Given the description of an element on the screen output the (x, y) to click on. 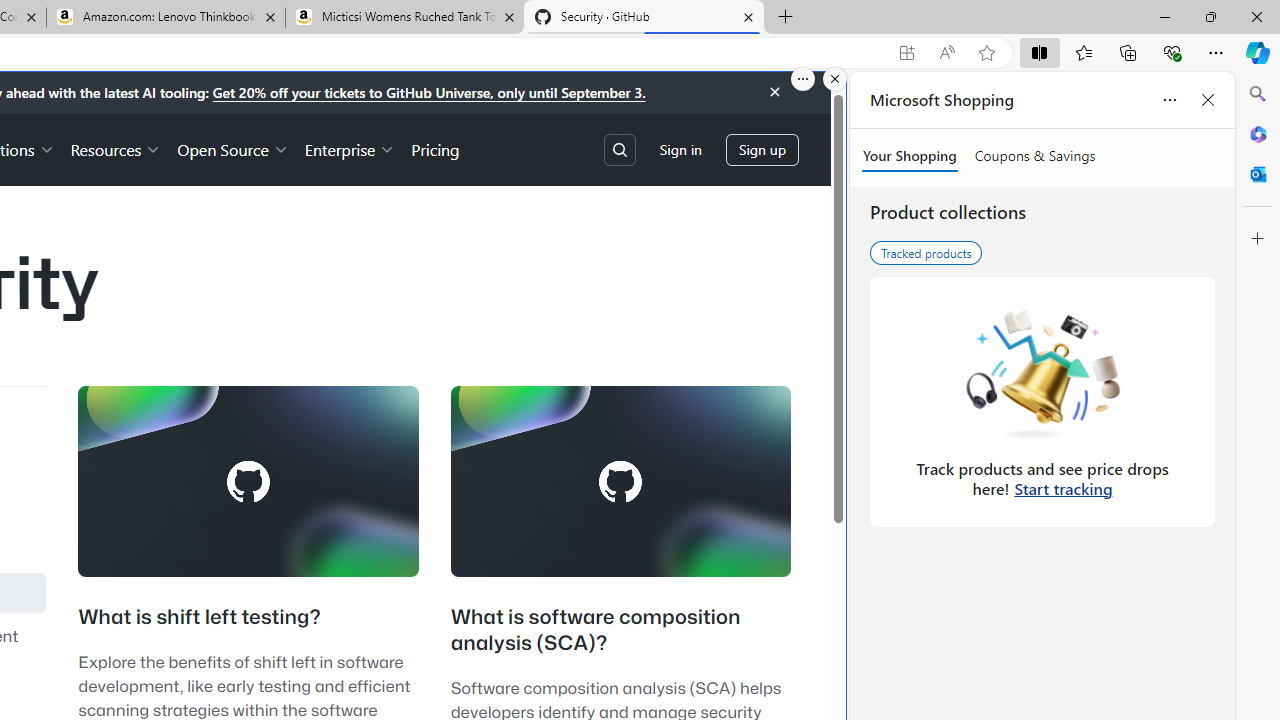
What is shift left testing? (199, 616)
Enterprise (349, 148)
